Given the description of an element on the screen output the (x, y) to click on. 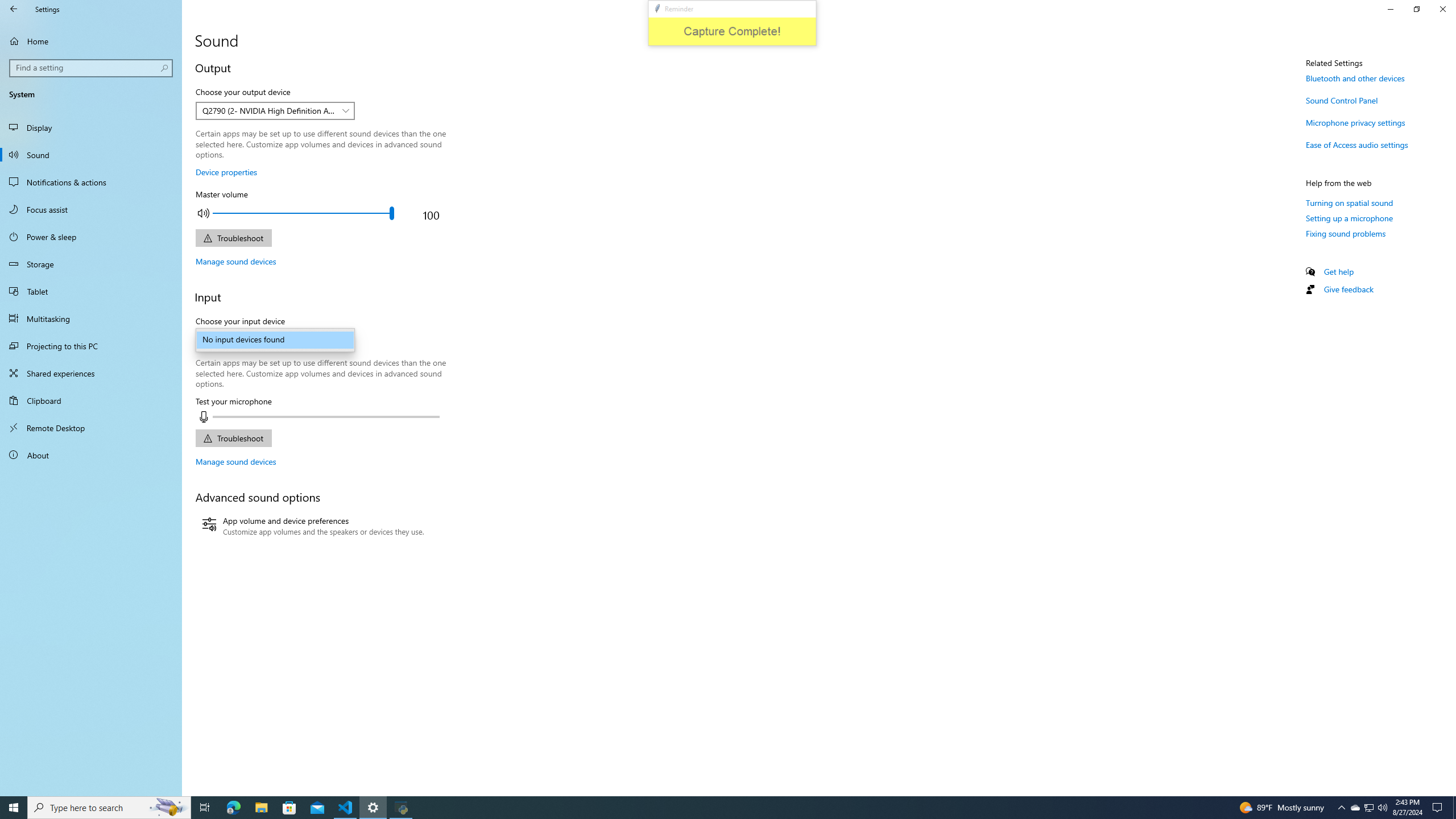
Input device troubleshoot (233, 438)
Focus assist (91, 208)
Choose your output device (275, 110)
Display (91, 126)
App volume and device preferences (312, 526)
